Given the description of an element on the screen output the (x, y) to click on. 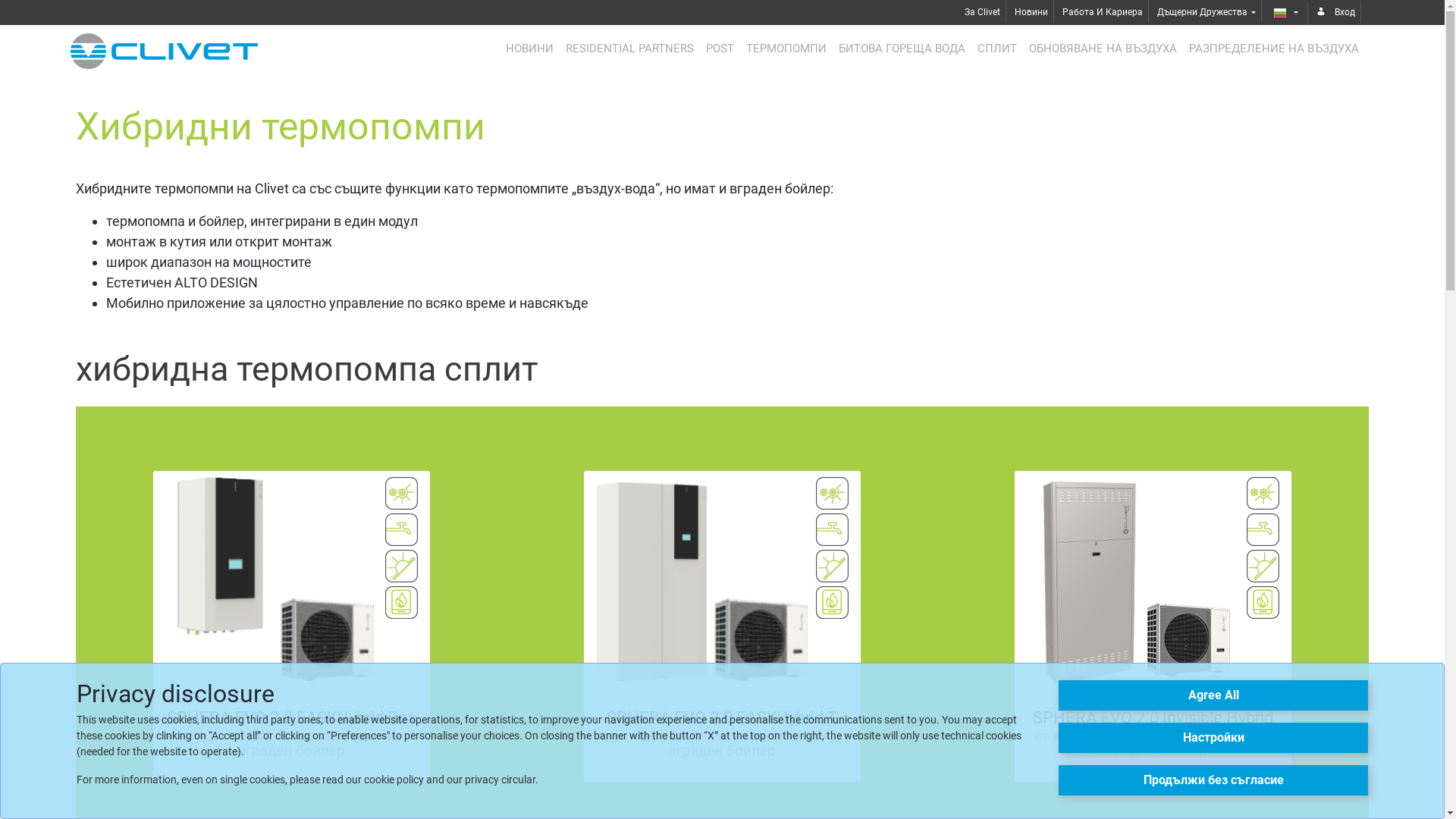
Agree All Element type: text (1213, 695)
POST Element type: text (719, 48)
Go to Clivet SEE Element type: hover (163, 51)
RESIDENTIAL PARTNERS Element type: text (629, 48)
